Given the description of an element on the screen output the (x, y) to click on. 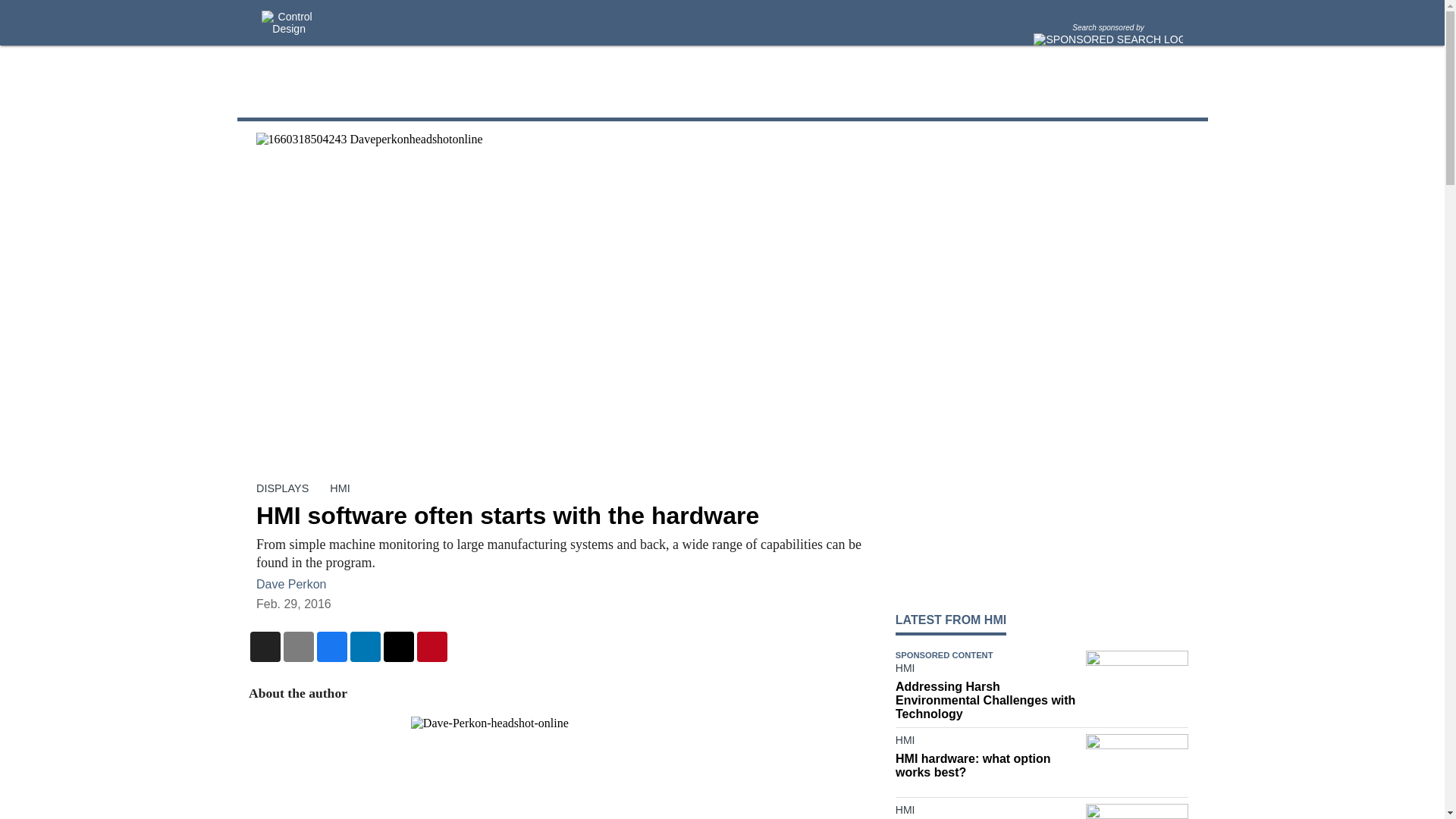
HMI (986, 742)
HMI hardware: what option works best? (986, 765)
HMI (339, 488)
DISPLAYS (282, 488)
Dave Perkon (291, 584)
HMI (986, 670)
Addressing Harsh Environmental Challenges with Technology (986, 700)
Dave-Perkon-headshot-online (560, 767)
HMI (986, 811)
